Given the description of an element on the screen output the (x, y) to click on. 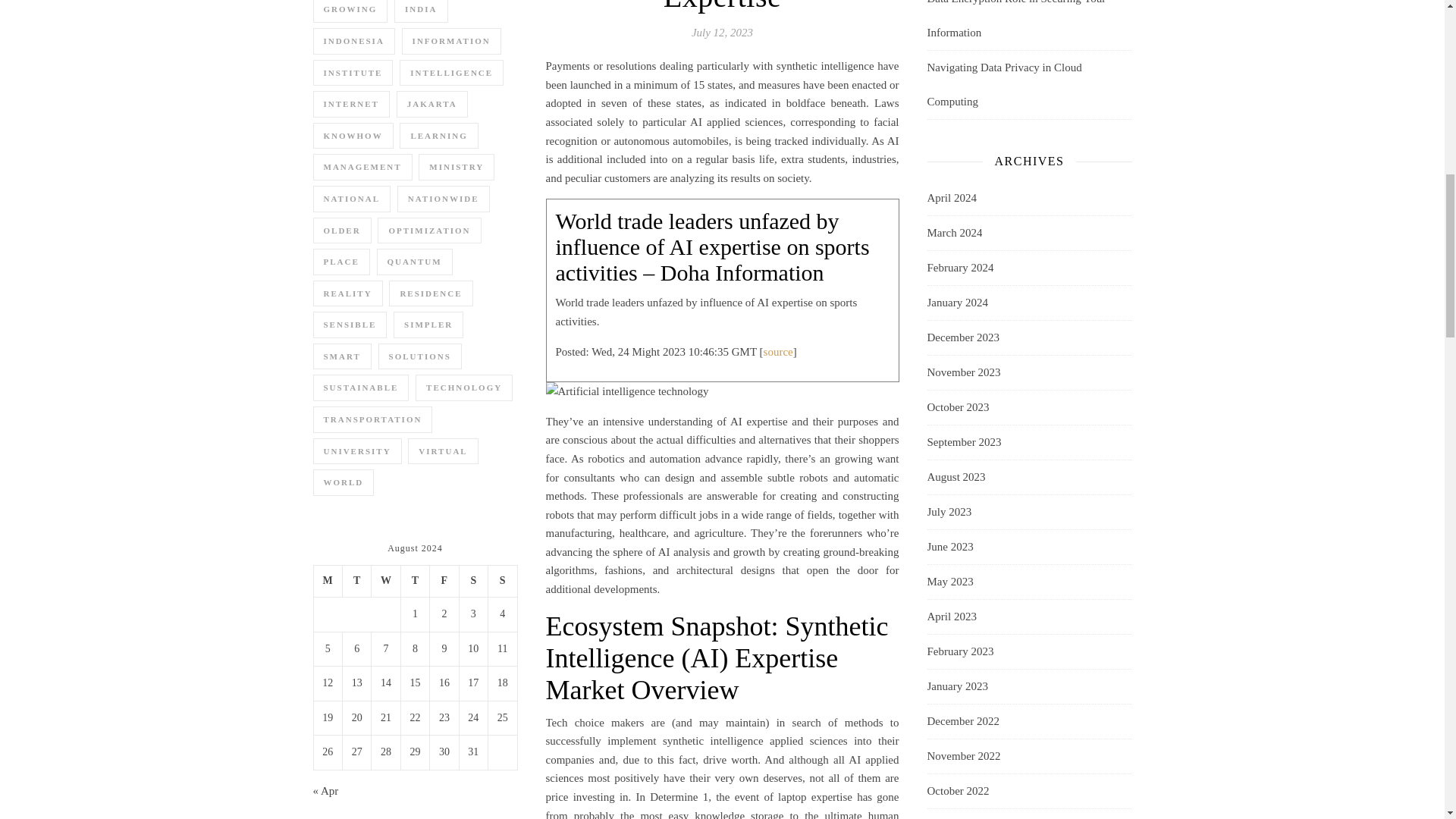
Wednesday (385, 581)
Thursday (414, 581)
Sunday (501, 581)
Monday (327, 581)
Tuesday (356, 581)
Friday (443, 581)
Saturday (472, 581)
